Given the description of an element on the screen output the (x, y) to click on. 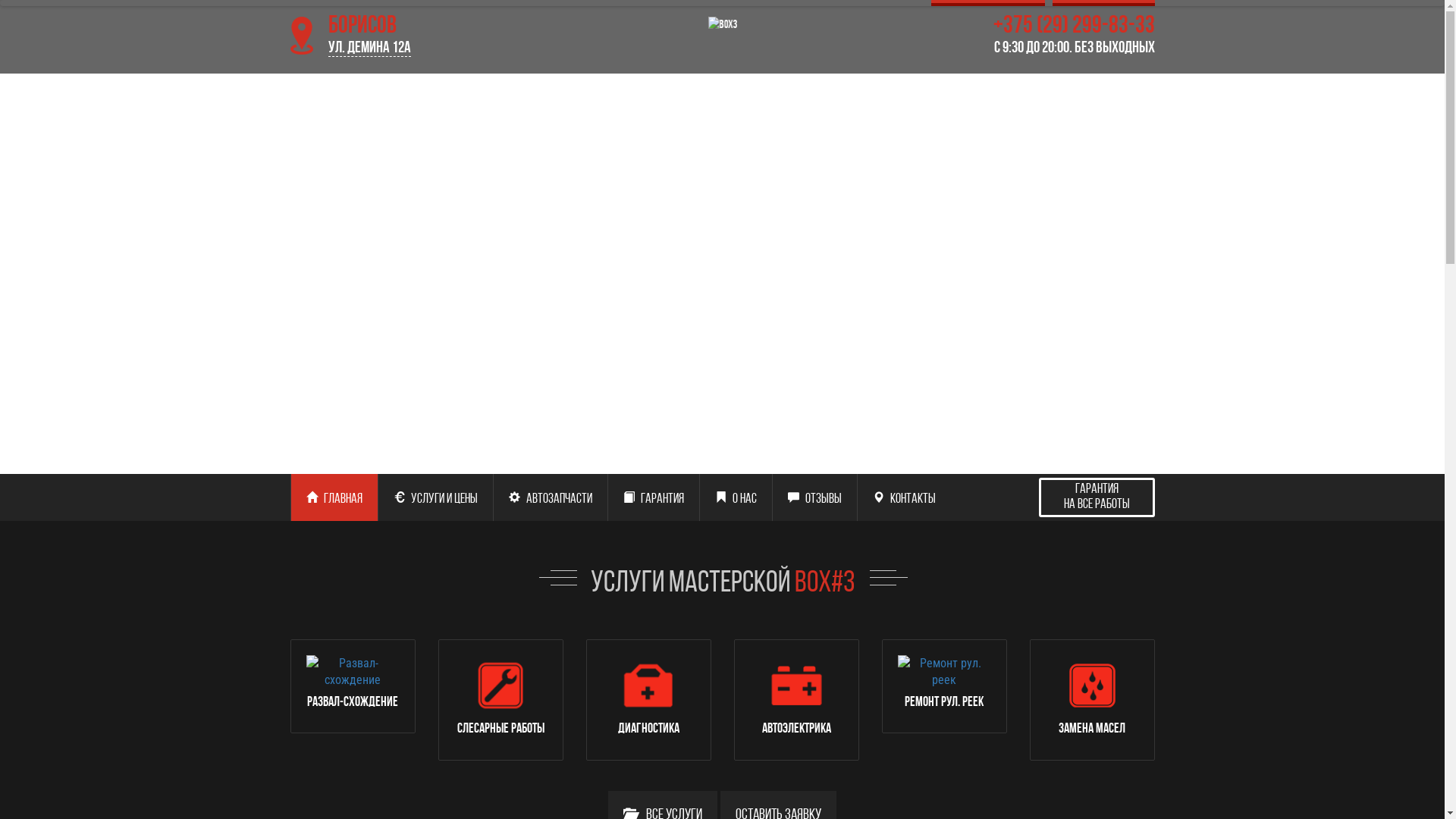
+375 (29) 299-83-33 Element type: text (1017, 36)
